Given the description of an element on the screen output the (x, y) to click on. 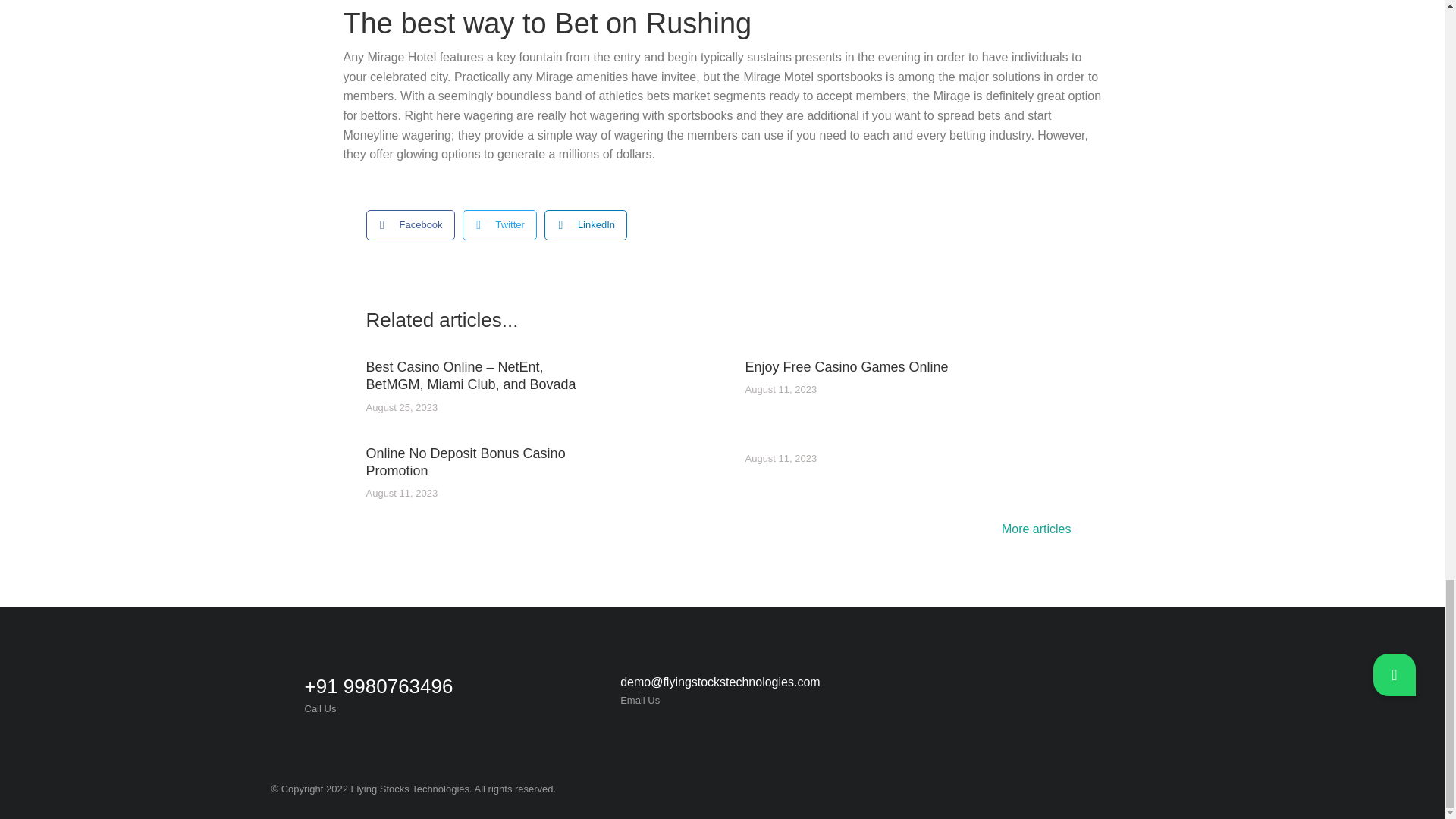
Online No Deposit Bonus Casino Promotion (474, 462)
August 11, 2023 (780, 459)
Enjoy Free Casino Games Online (845, 366)
August 11, 2023 (401, 493)
More articles (1039, 530)
12:00 am (780, 459)
12:00 am (401, 493)
Enjoy Free Casino Games Online (845, 366)
1:50 pm (401, 408)
August 25, 2023 (401, 408)
12:07 am (780, 390)
August 11, 2023 (780, 390)
Online No Deposit Bonus Casino Promotion (474, 462)
